Given the description of an element on the screen output the (x, y) to click on. 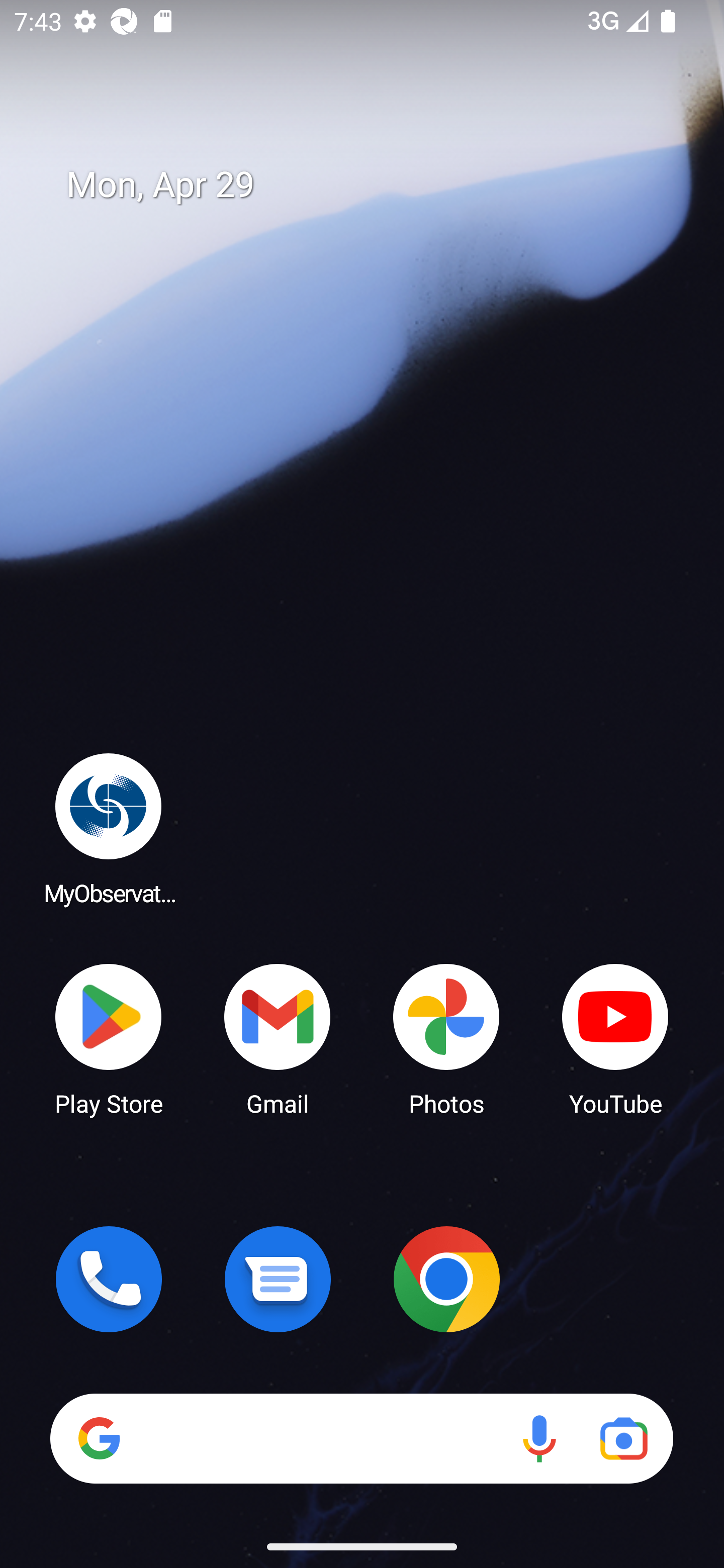
Mon, Apr 29 (375, 184)
MyObservatory (108, 828)
Play Store (108, 1038)
Gmail (277, 1038)
Photos (445, 1038)
YouTube (615, 1038)
Phone (108, 1279)
Messages (277, 1279)
Chrome (446, 1279)
Voice search (539, 1438)
Google Lens (623, 1438)
